Given the description of an element on the screen output the (x, y) to click on. 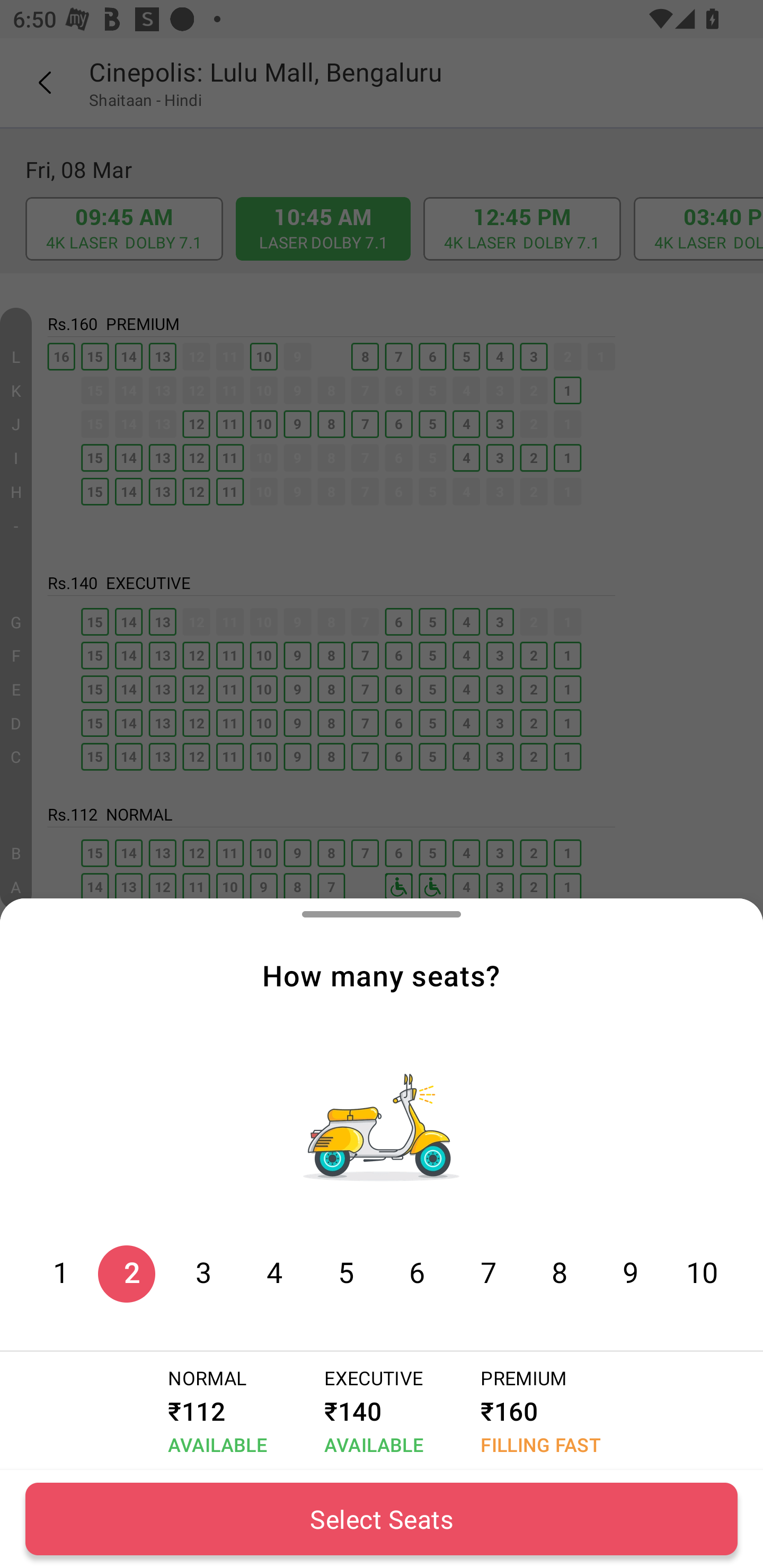
NORMAL ₹112 AVAILABLE (213, 1410)
EXECUTIVE ₹140 AVAILABLE (370, 1410)
PREMIUM ₹160 FILLING FAST (537, 1410)
Select Seats (381, 1519)
